Given the description of an element on the screen output the (x, y) to click on. 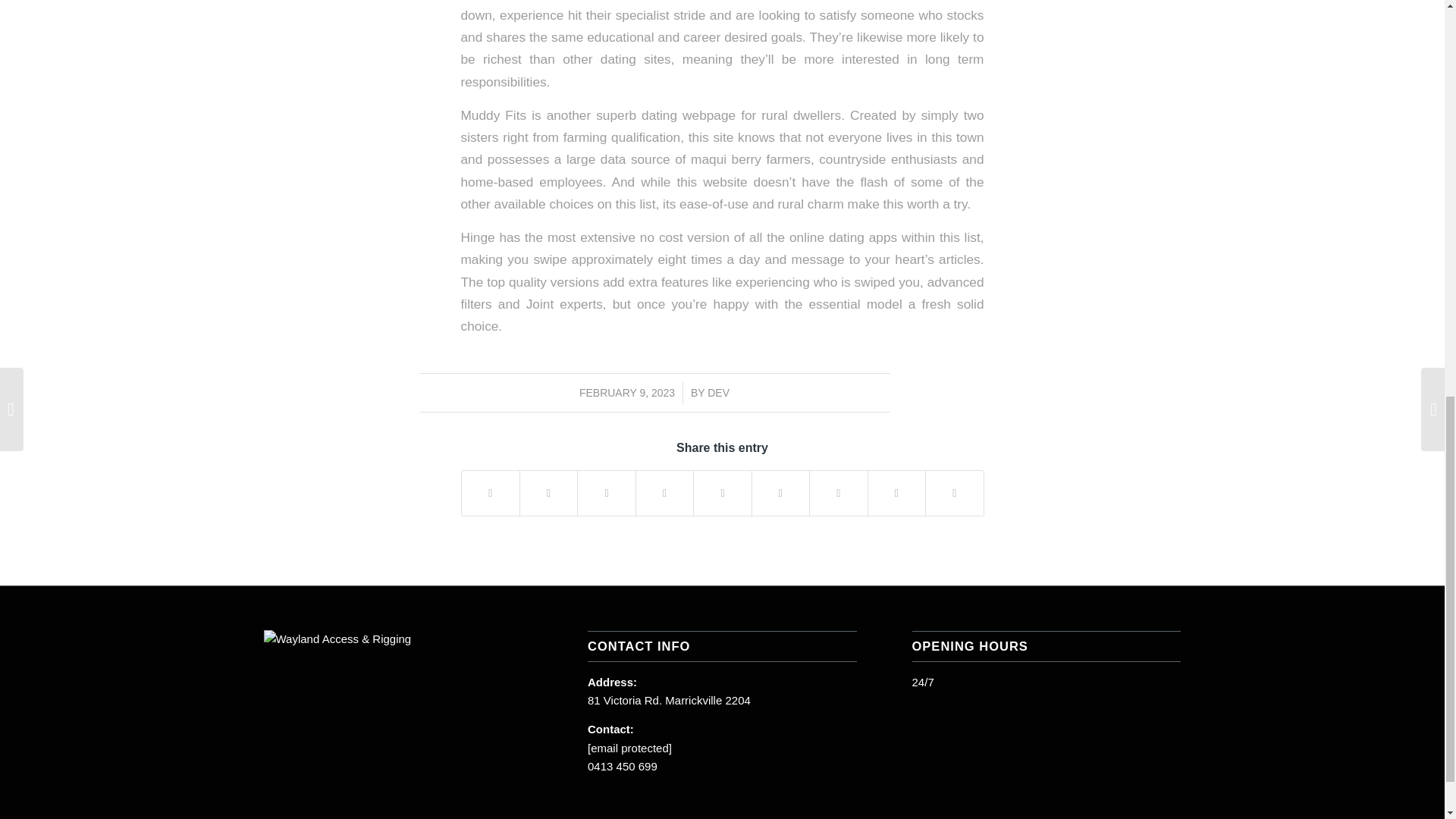
Posts by dev (718, 392)
0413 450 699 (623, 766)
DEV (718, 392)
